Given the description of an element on the screen output the (x, y) to click on. 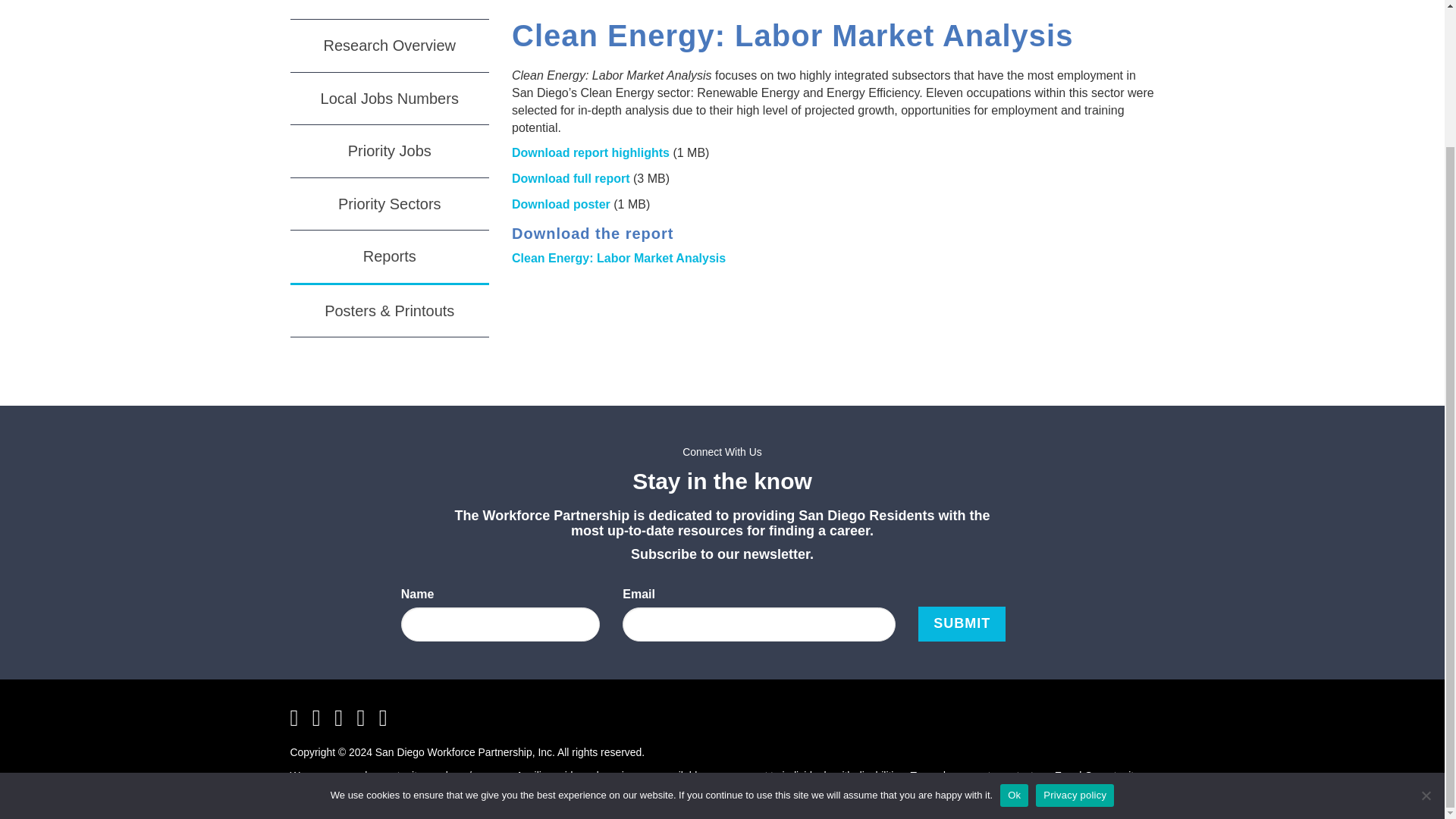
Equal Opportunity is the Law (528, 790)
Download report highlights (590, 152)
Spanish version (671, 790)
No (1425, 626)
Download full report (571, 178)
Reports (389, 257)
SUBMIT (962, 623)
Download poster (561, 204)
Local Jobs Numbers (389, 99)
Research Overview (389, 45)
Priority Sectors (389, 204)
Clean Energy: Labor Market Analysis (618, 257)
Priority Jobs (389, 151)
